Given the description of an element on the screen output the (x, y) to click on. 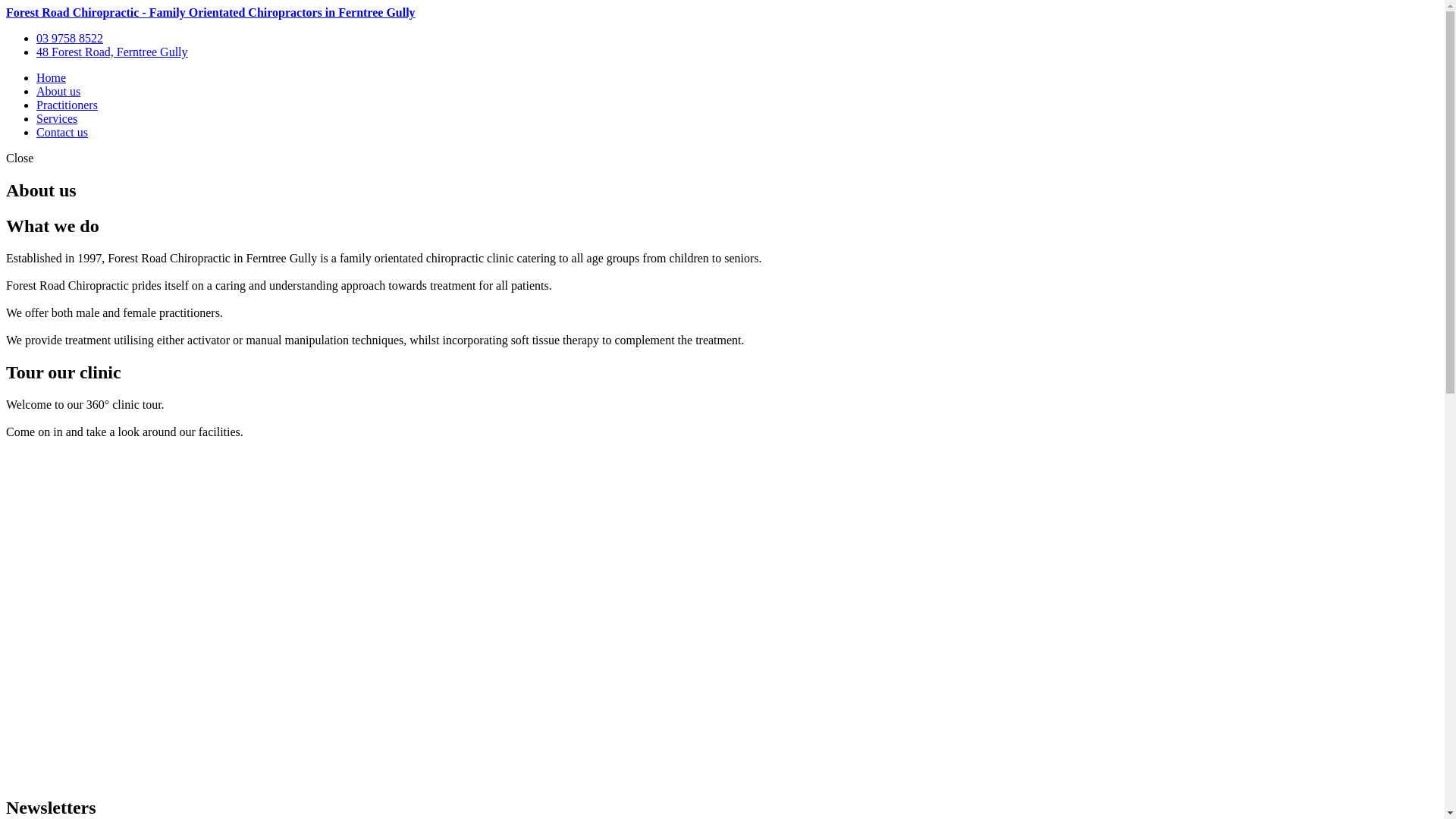
Contact us Element type: text (61, 131)
Services Element type: text (56, 118)
Home Element type: text (50, 77)
03 9758 8522 Element type: text (69, 37)
Practitioners Element type: text (66, 104)
48 Forest Road, Ferntree Gully Element type: text (112, 51)
About us Element type: text (58, 90)
